Given the description of an element on the screen output the (x, y) to click on. 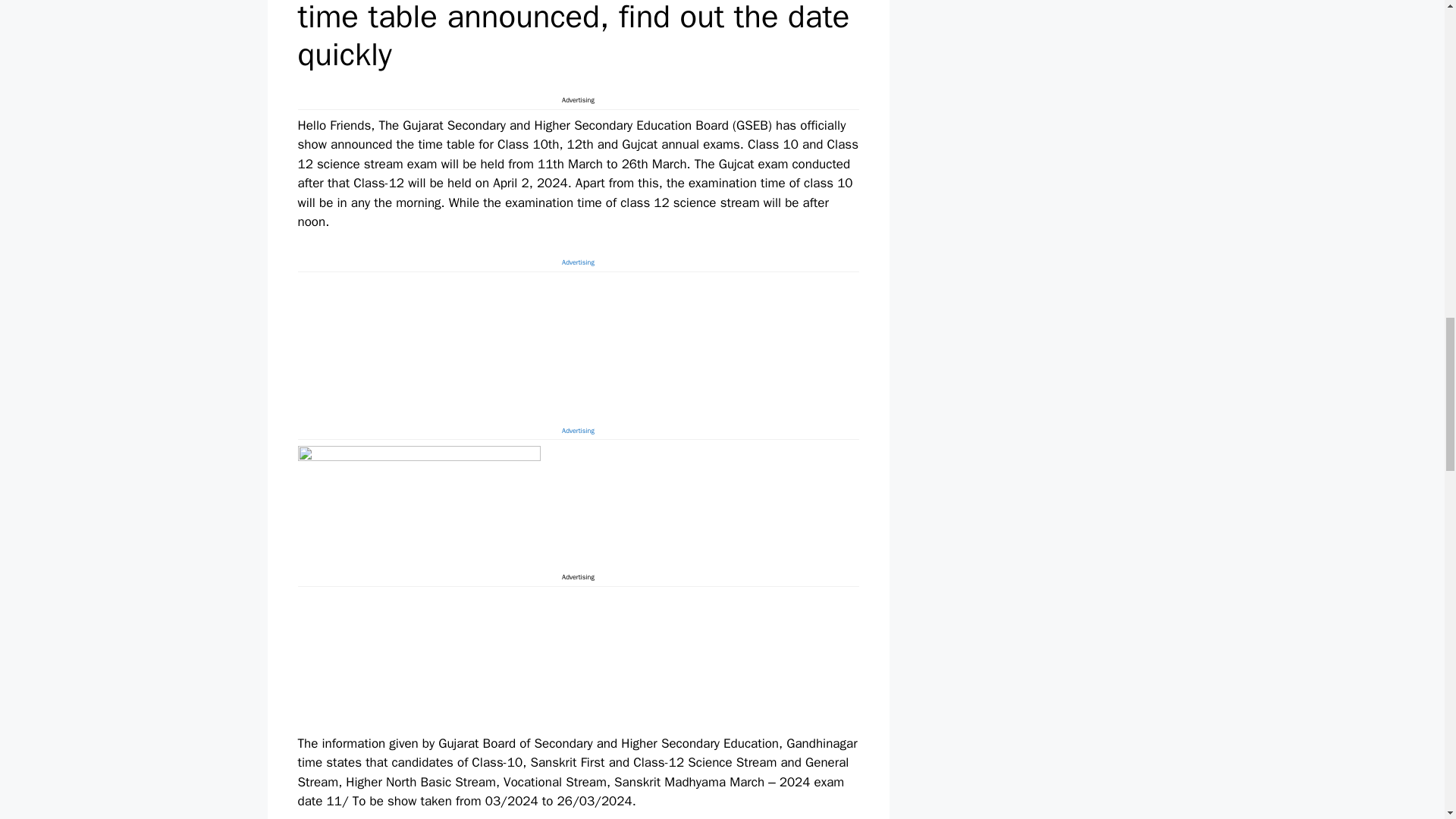
Advertisement (578, 658)
Advertisement (578, 342)
